Given the description of an element on the screen output the (x, y) to click on. 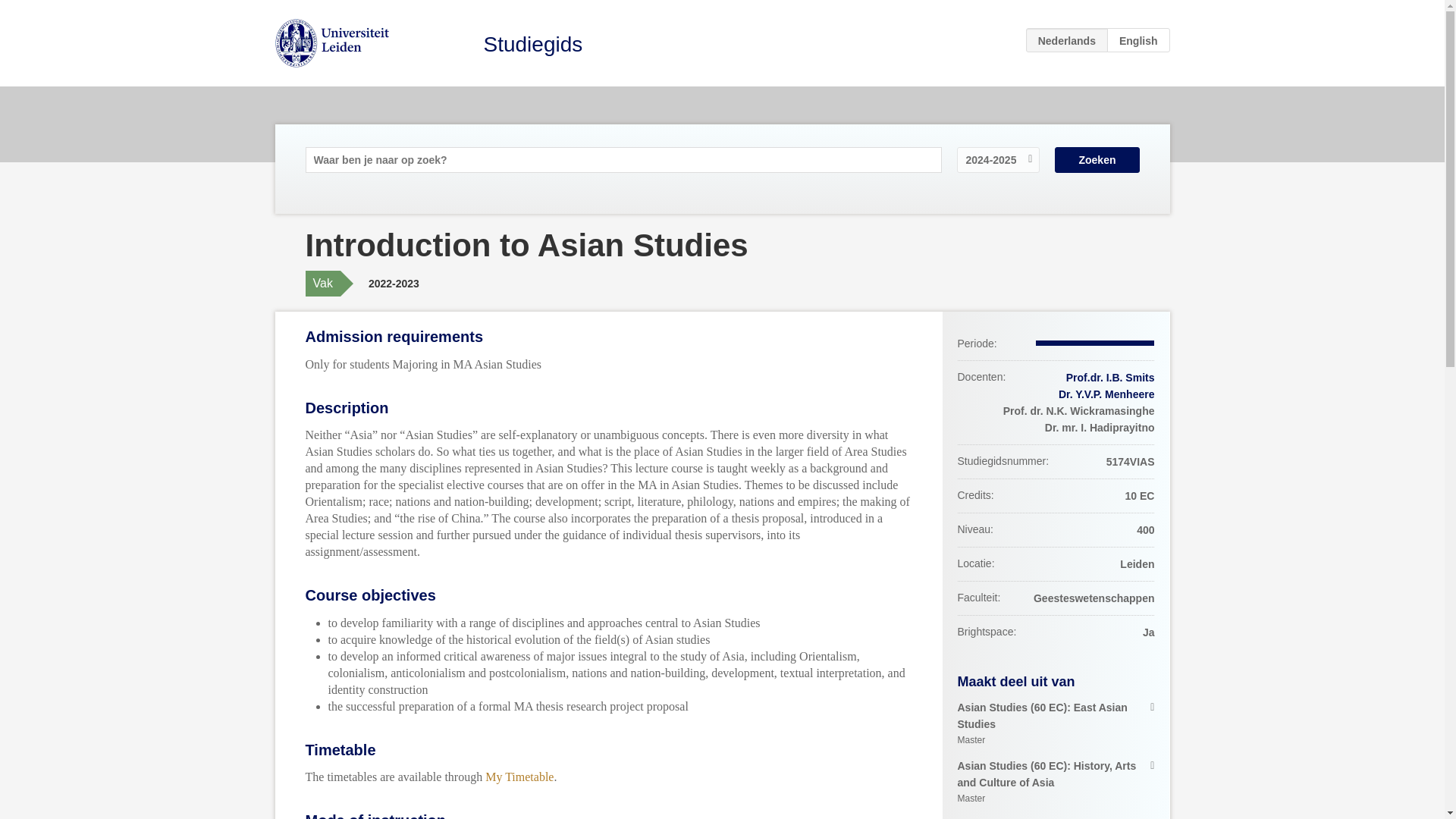
Prof.dr. I.B. Smits (1109, 377)
Studiegids (533, 44)
My Timetable (518, 776)
Zoeken (1096, 159)
EN (1138, 39)
Dr. Y.V.P. Menheere (1106, 394)
